Given the description of an element on the screen output the (x, y) to click on. 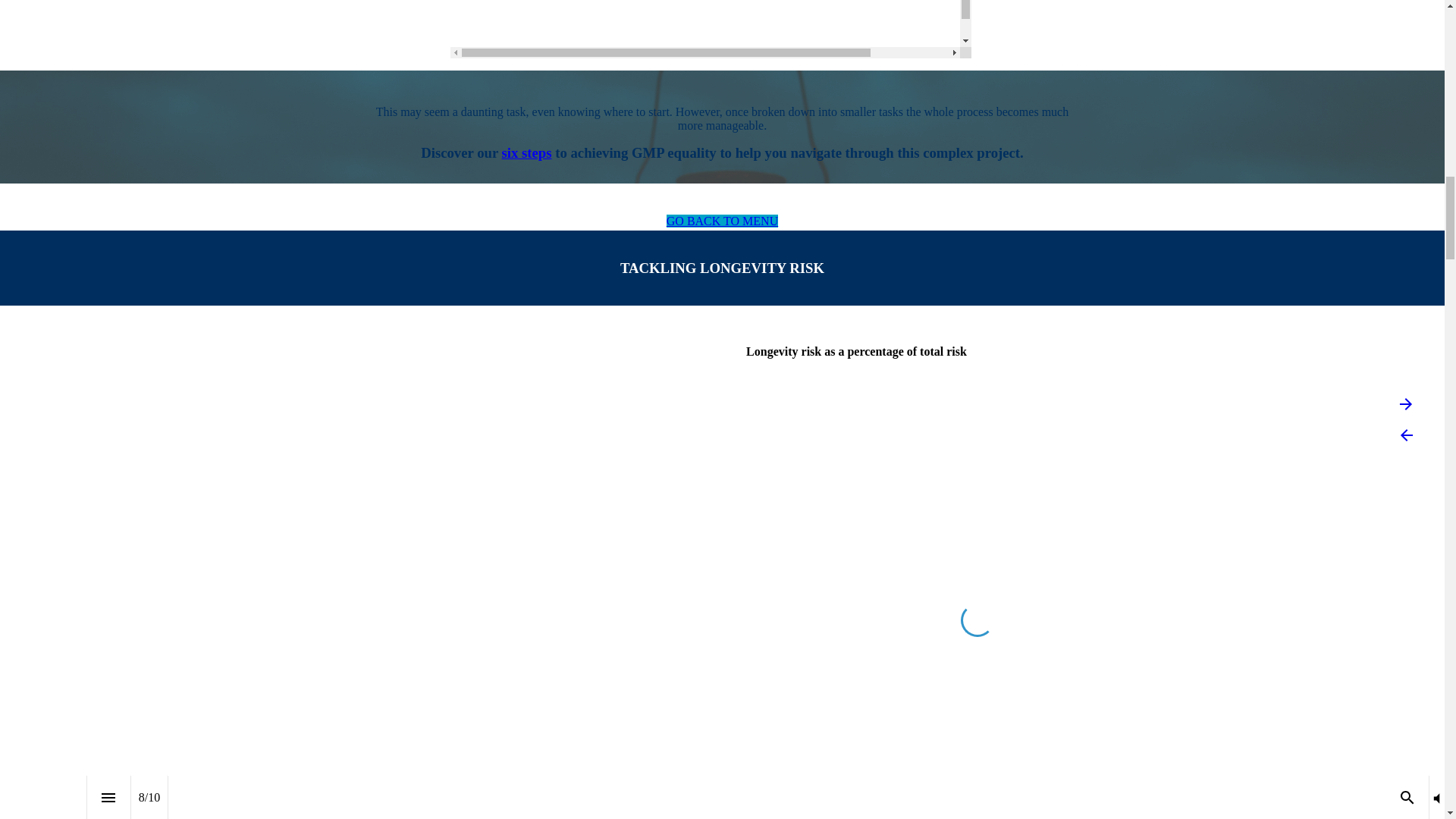
six steps (526, 152)
GO BACK TO MENU (721, 220)
